Given the description of an element on the screen output the (x, y) to click on. 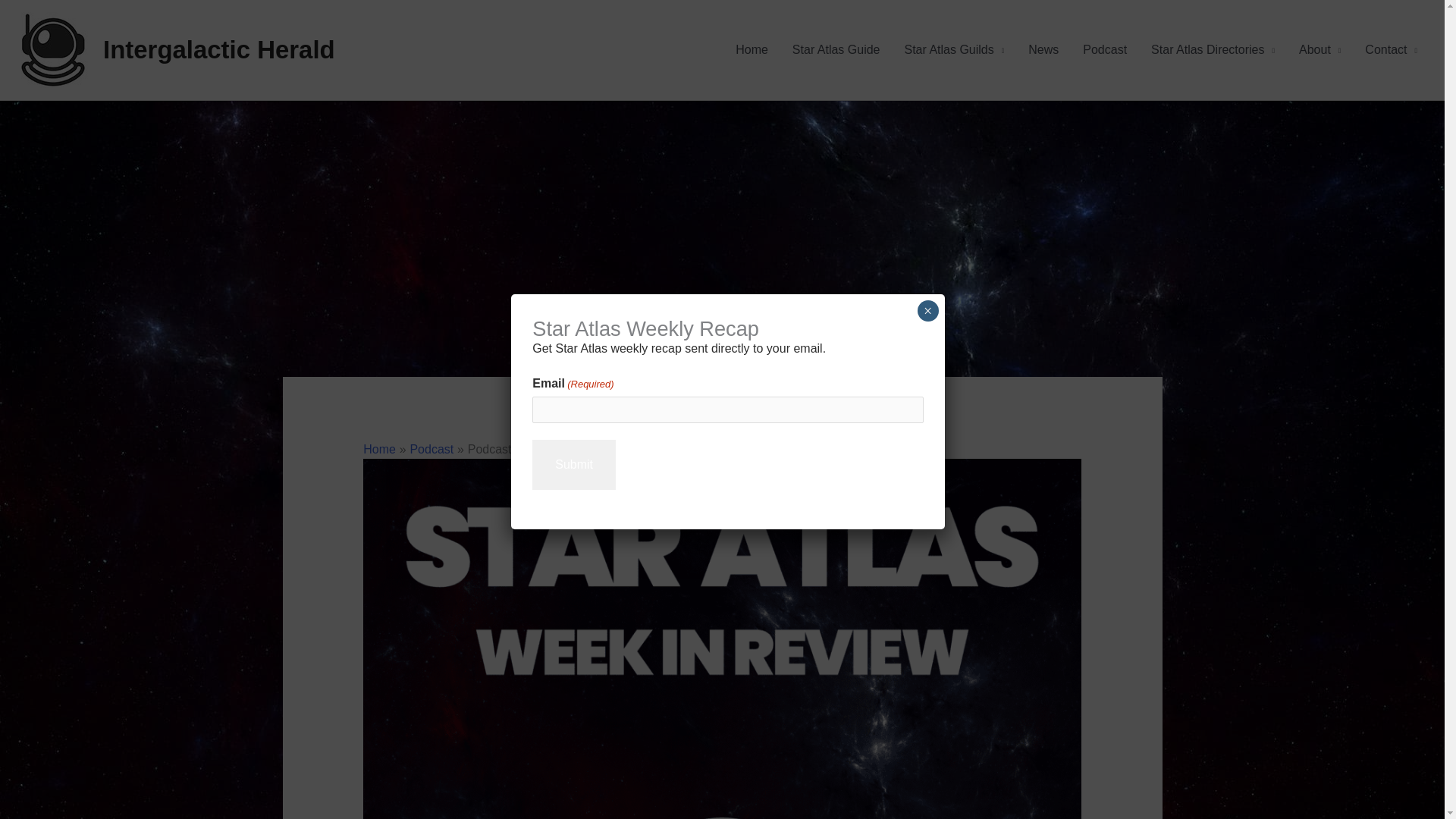
Star Atlas Guilds (953, 49)
Podcast (430, 449)
Intergalactic Herald (218, 49)
Star Atlas Guide (836, 49)
Home (379, 449)
Submit (573, 464)
Star Atlas Directories (1212, 49)
